Given the description of an element on the screen output the (x, y) to click on. 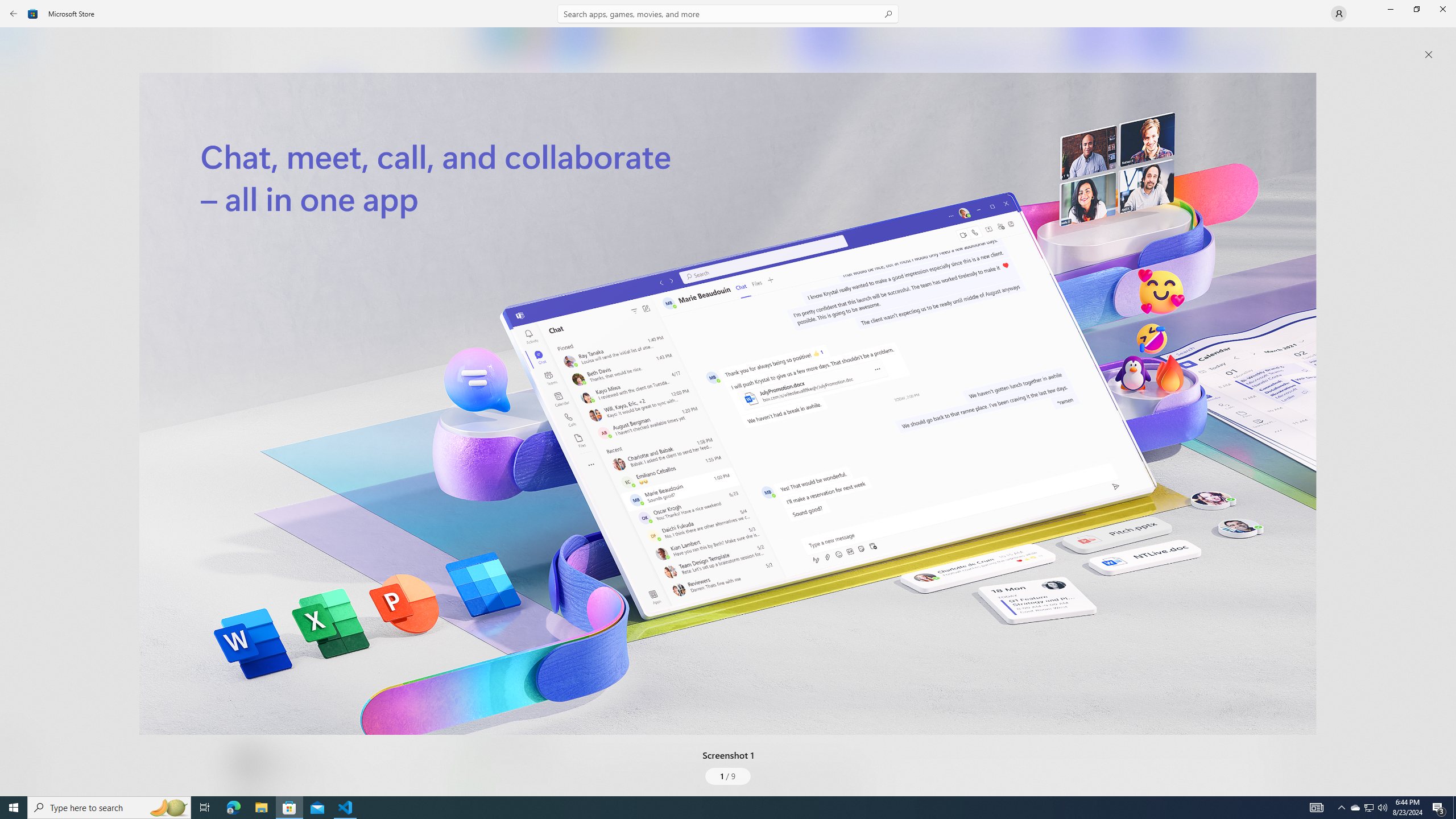
Apps (20, 80)
Home (20, 45)
User profile (1338, 13)
Microsoft Corporation (383, 189)
Entertainment (20, 185)
Screenshot 2 (959, 46)
Back (13, 13)
AI Hub (20, 221)
Minimize Microsoft Store (1390, 9)
Age rating: EVERYONE. Click for more information. (287, 762)
Install (334, 244)
Arcade (20, 150)
Show less (482, 703)
Restore Microsoft Store (1416, 9)
Show all ratings and reviews (477, 527)
